Given the description of an element on the screen output the (x, y) to click on. 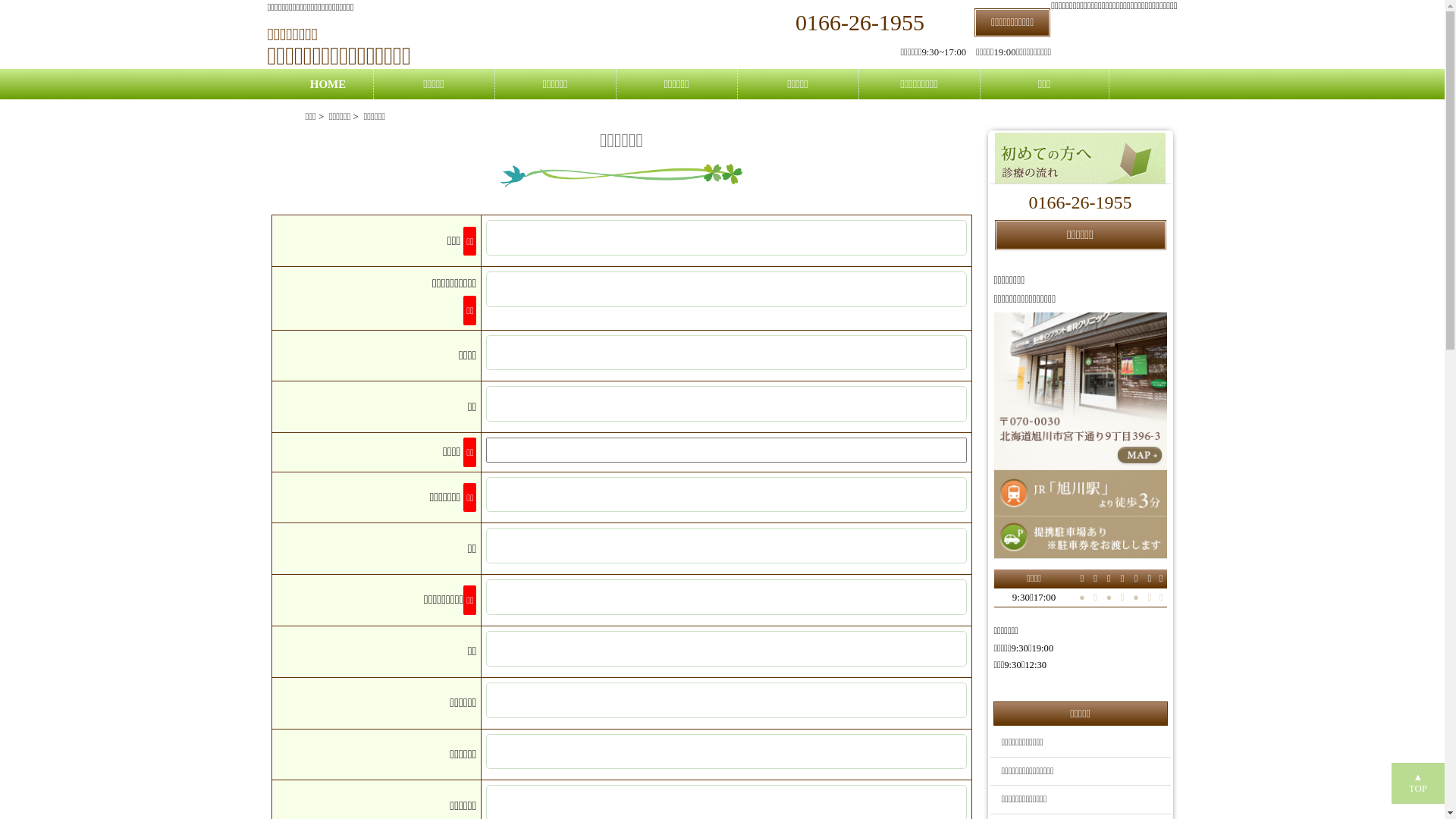
HOME Element type: text (327, 84)
